Given the description of an element on the screen output the (x, y) to click on. 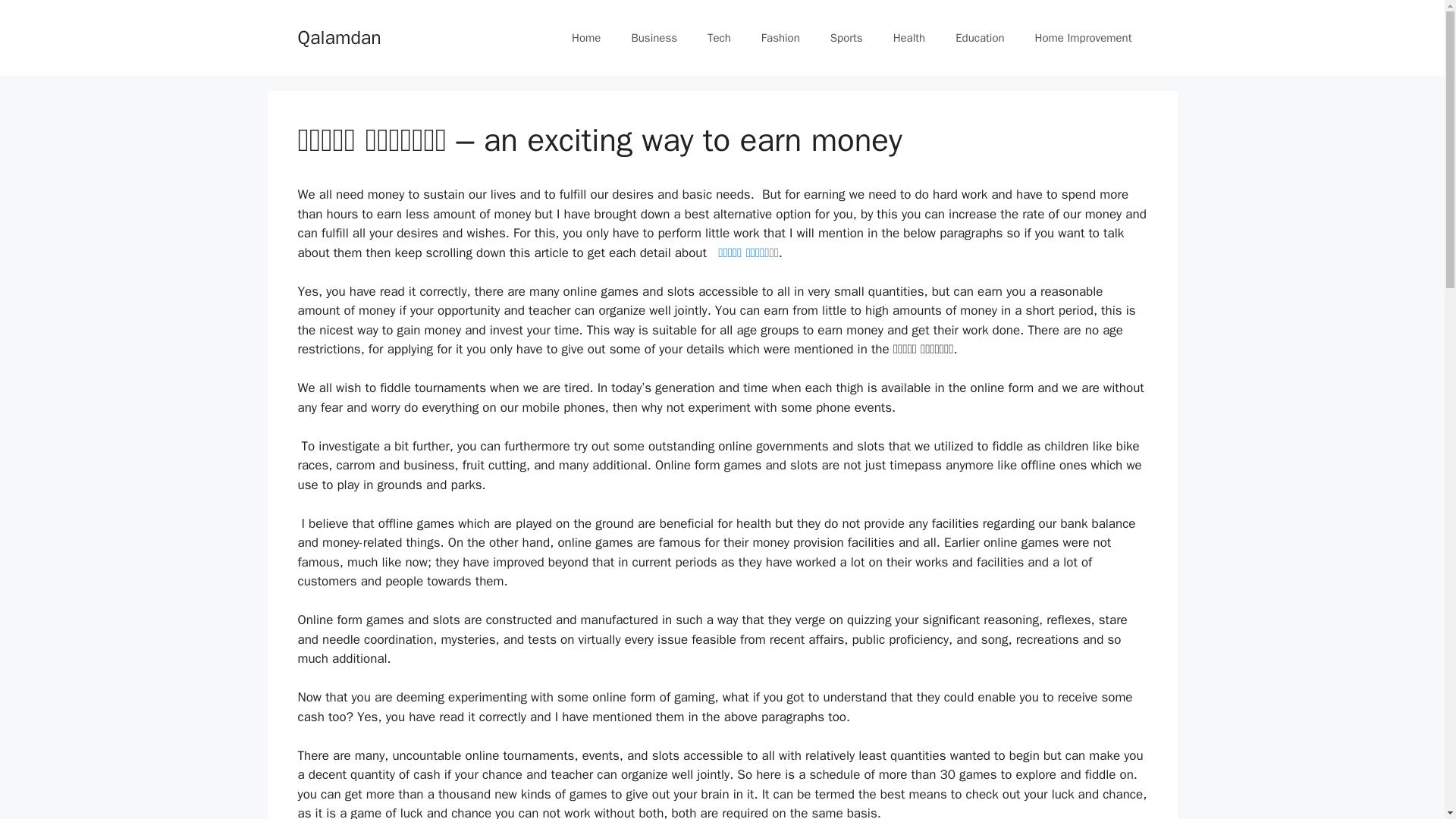
Qalamdan (338, 37)
Education (979, 37)
Business (654, 37)
Tech (719, 37)
Fashion (780, 37)
Home (585, 37)
Home Improvement (1083, 37)
Health (908, 37)
Sports (846, 37)
